Given the description of an element on the screen output the (x, y) to click on. 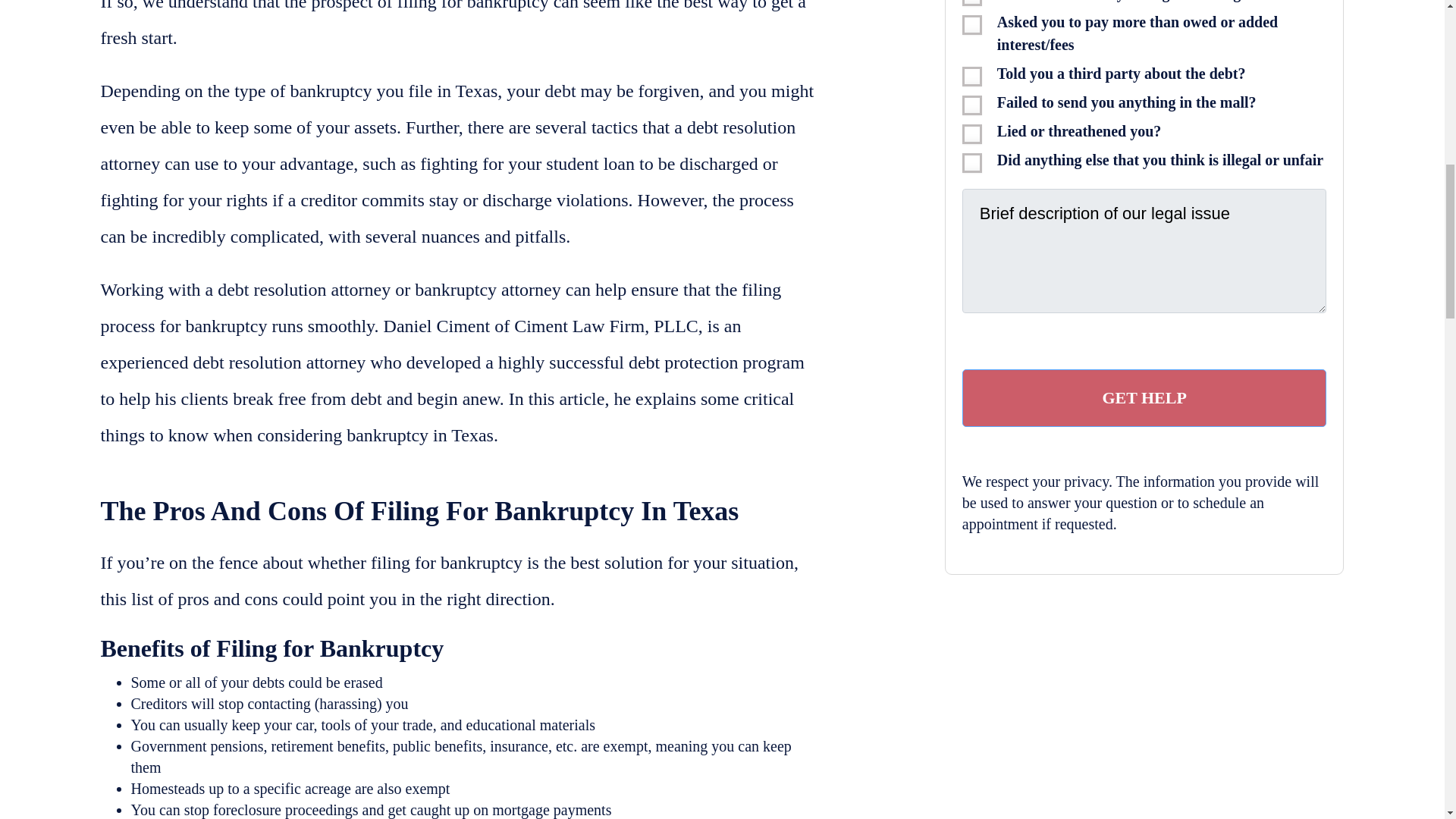
GET HELP (1144, 397)
